Given the description of an element on the screen output the (x, y) to click on. 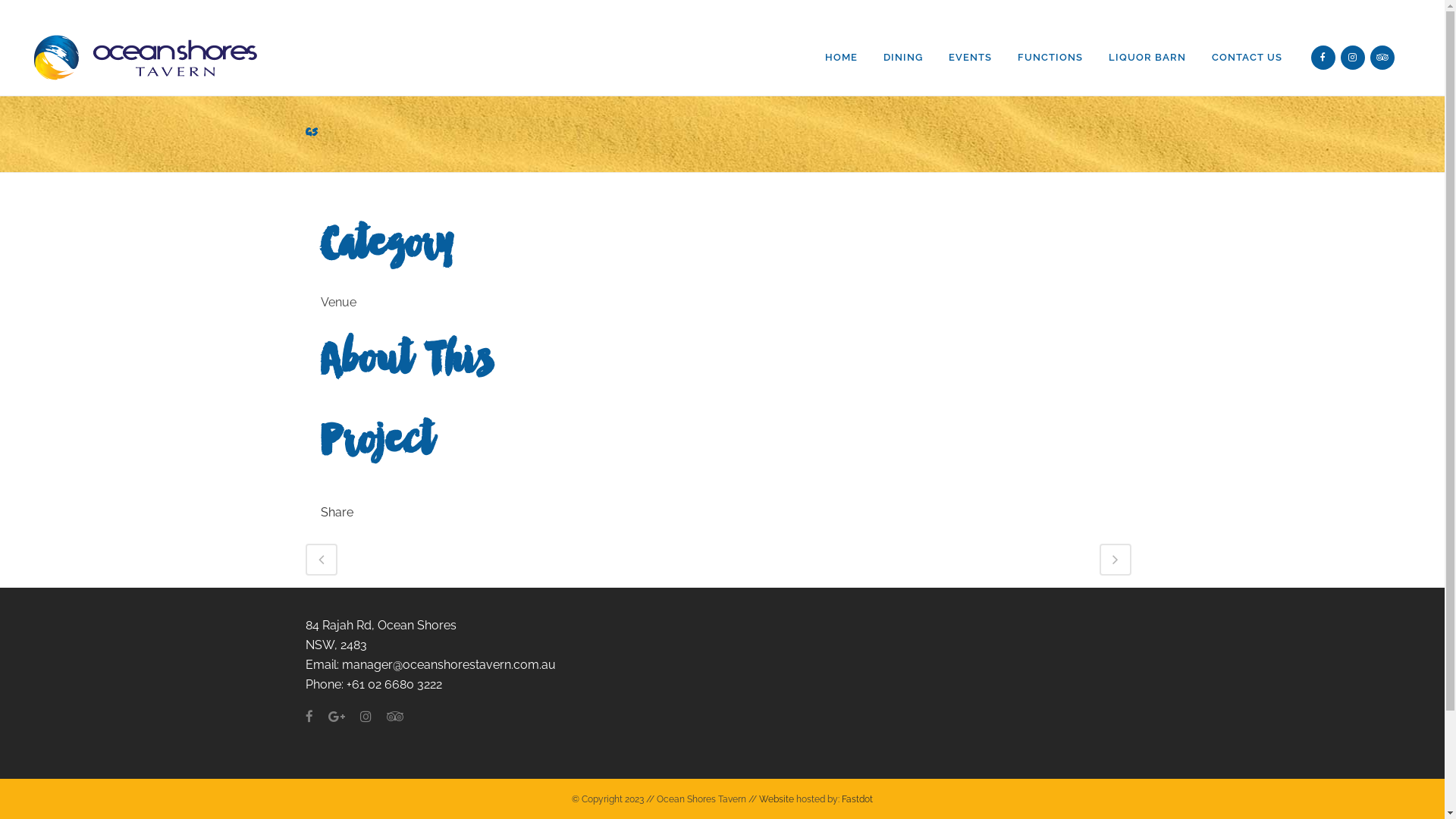
manager@oceanshorestavern.com.au Element type: text (448, 664)
HOME Element type: text (841, 57)
FUNCTIONS Element type: text (1049, 57)
Share Element type: text (336, 512)
CONTACT US Element type: text (1246, 57)
DINING Element type: text (902, 57)
LIQUOR BARN Element type: text (1146, 57)
EVENTS Element type: text (969, 57)
Fastdot Element type: text (856, 798)
Website Element type: text (776, 798)
